Given the description of an element on the screen output the (x, y) to click on. 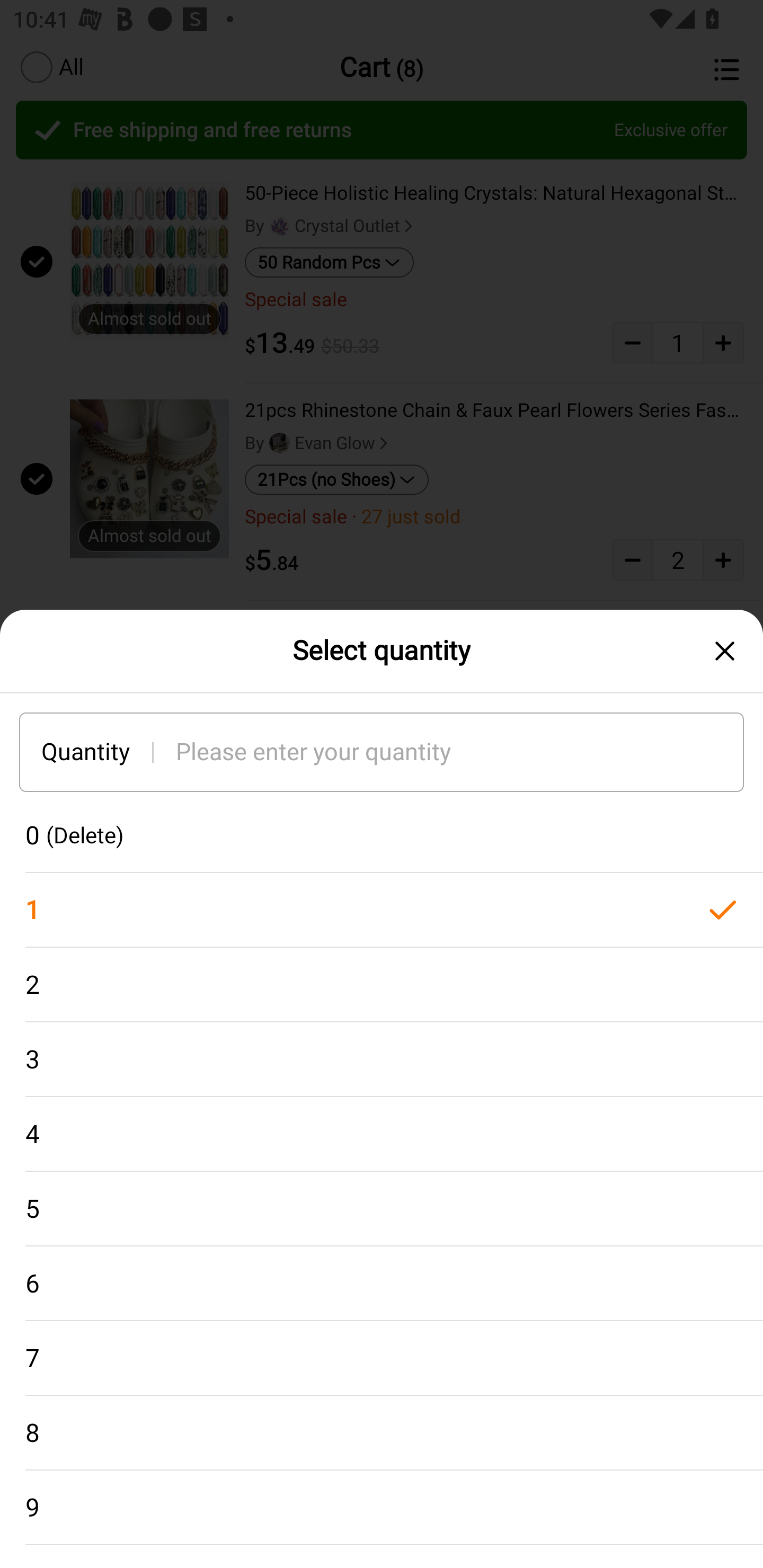
close (724, 650)
Please enter your quantity (459, 751)
0 (Delete) (381, 835)
1 (381, 910)
2 (381, 984)
3 (381, 1059)
4 (381, 1134)
5 (381, 1208)
6 (381, 1283)
7 (381, 1358)
8 (381, 1432)
9 (381, 1507)
